Given the description of an element on the screen output the (x, y) to click on. 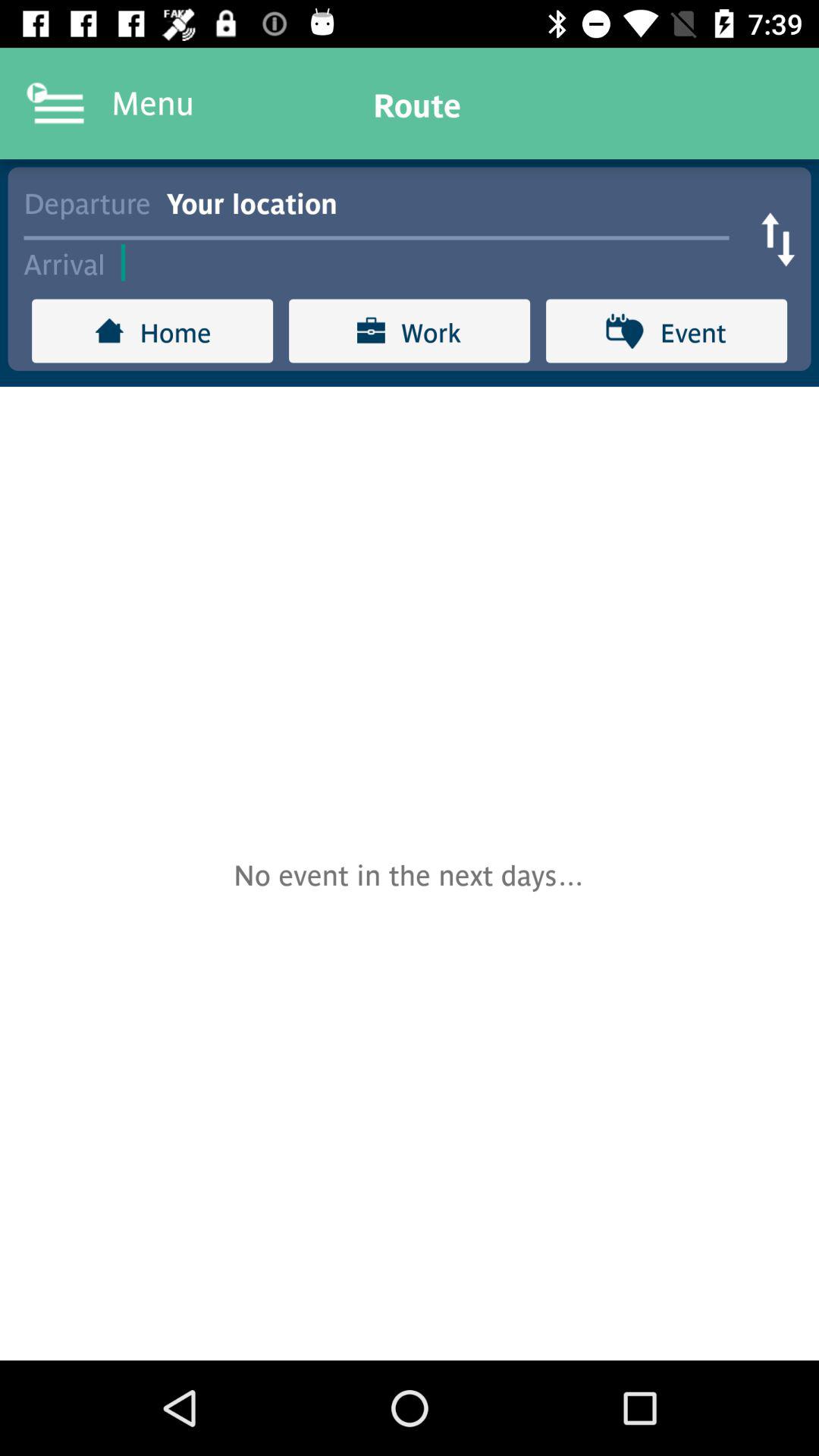
launch icon next to arrival item (433, 261)
